Given the description of an element on the screen output the (x, y) to click on. 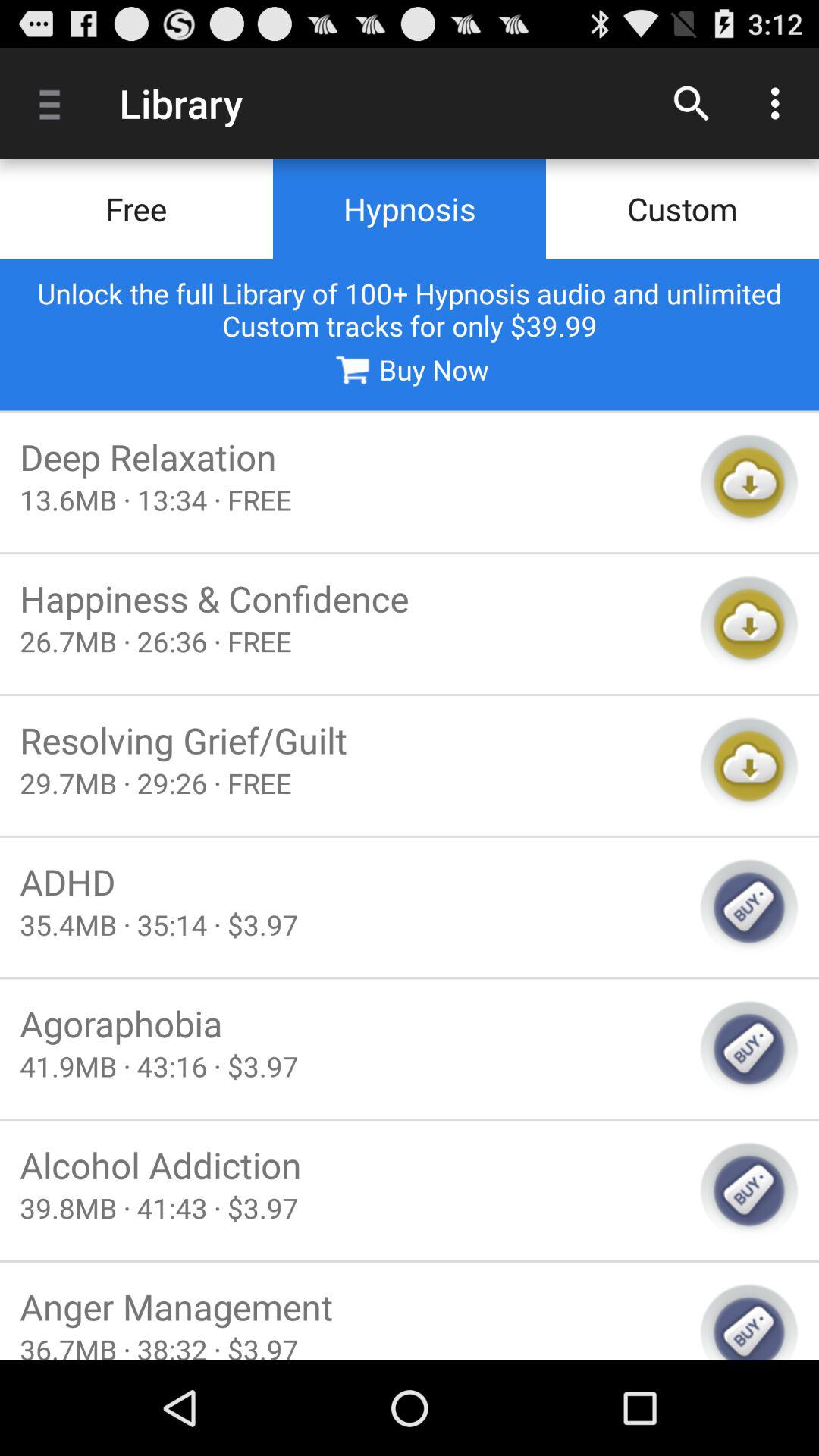
tap the unlock the full (409, 309)
